Given the description of an element on the screen output the (x, y) to click on. 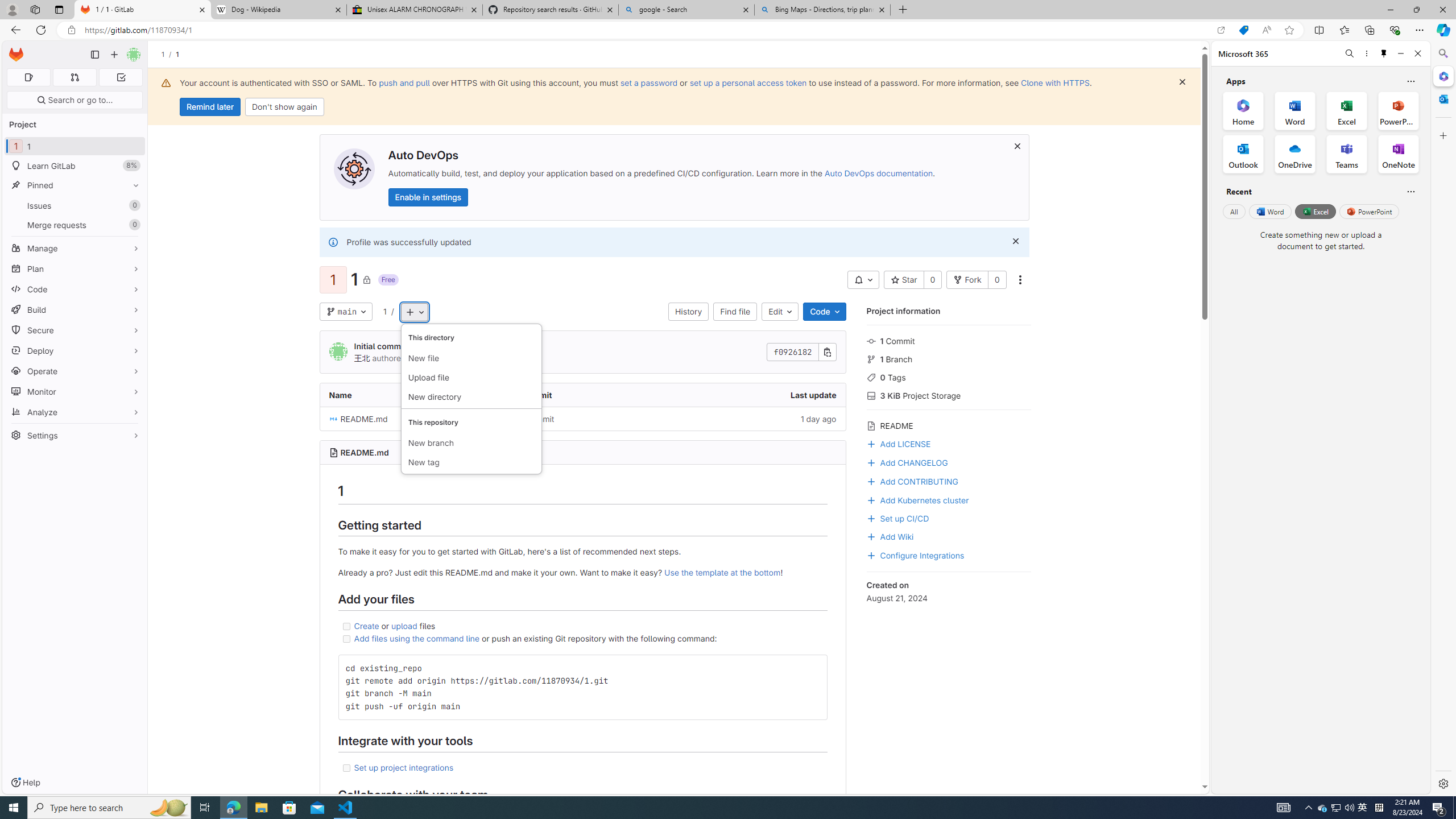
Add Kubernetes cluster (917, 498)
Initial commit (528, 418)
